Given the description of an element on the screen output the (x, y) to click on. 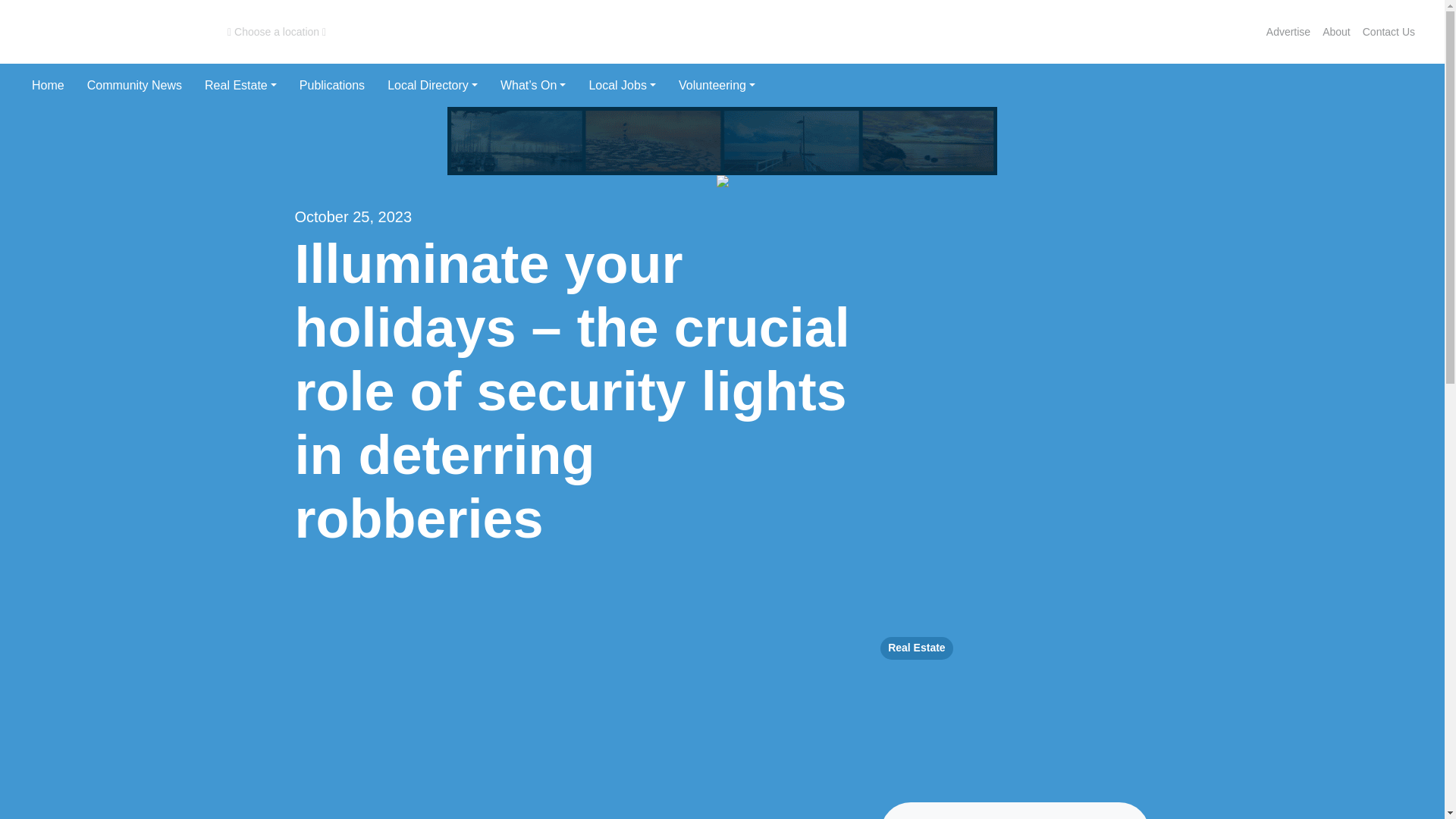
About (1336, 31)
Community News (134, 84)
Real Estate (240, 84)
Home (47, 84)
Publications (331, 84)
Contact Us (1388, 31)
Choose a location (276, 31)
Contact us (1388, 31)
Community News (134, 84)
Local Jobs (621, 84)
